Given the description of an element on the screen output the (x, y) to click on. 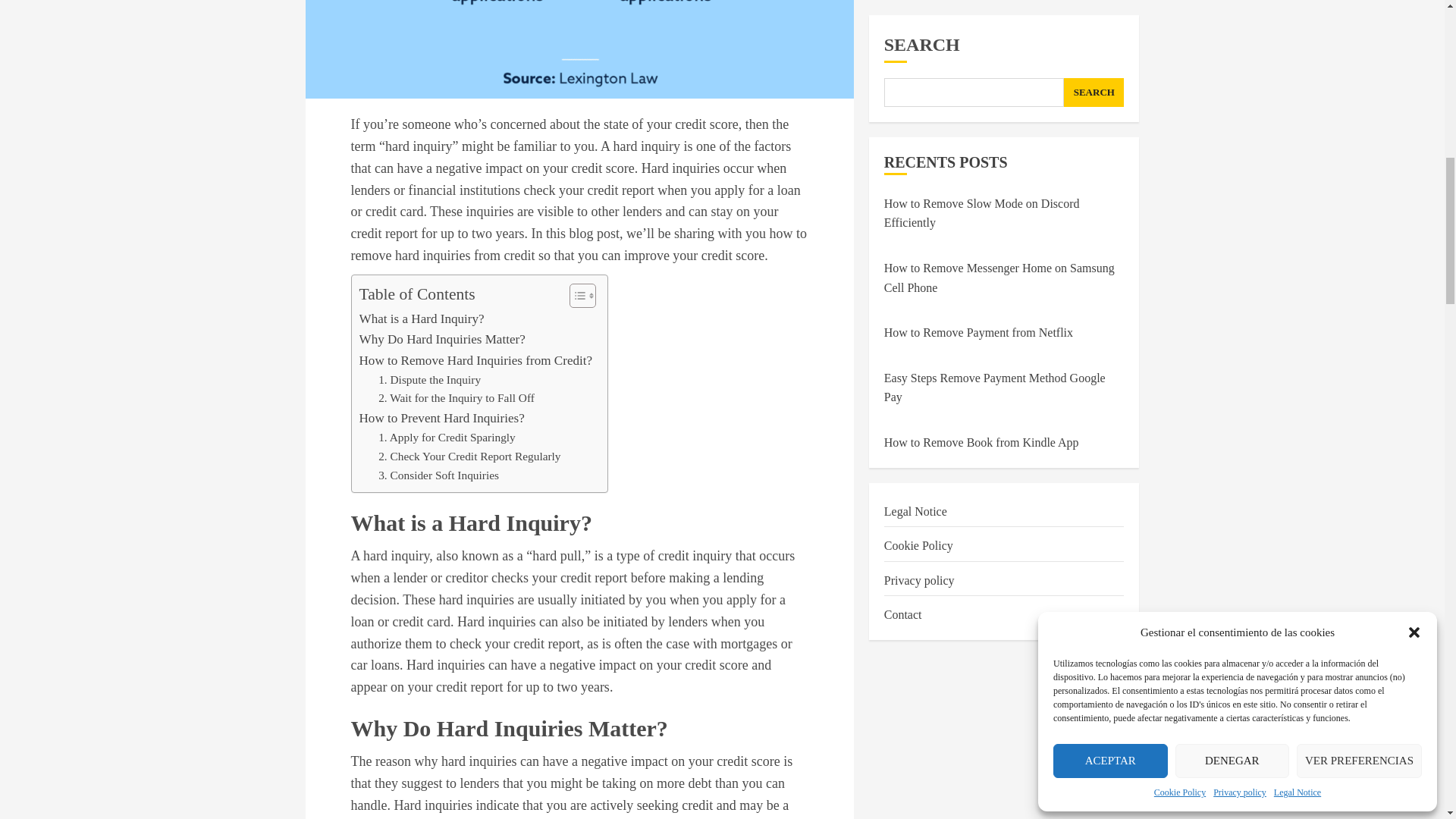
1. Apply for Credit Sparingly (446, 437)
Why Do Hard Inquiries Matter? (442, 339)
What is a Hard Inquiry? (421, 318)
3. Consider Soft Inquiries (438, 475)
2. Check Your Credit Report Regularly (469, 456)
How to Prevent Hard Inquiries? (441, 417)
How to Remove Hard Inquiries from Credit? (475, 360)
2. Wait for the Inquiry to Fall Off (456, 398)
1. Dispute the Inquiry (429, 380)
